Given the description of an element on the screen output the (x, y) to click on. 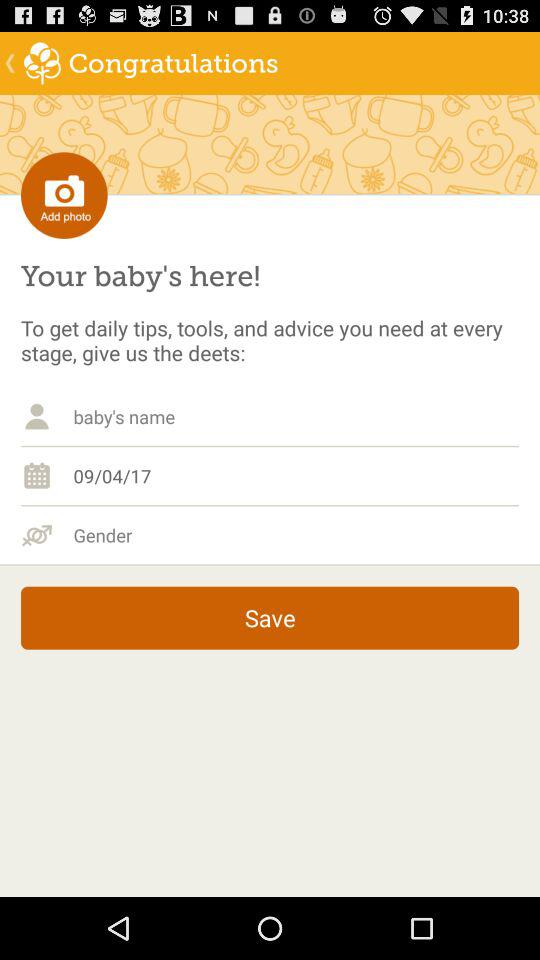
gender (296, 535)
